Given the description of an element on the screen output the (x, y) to click on. 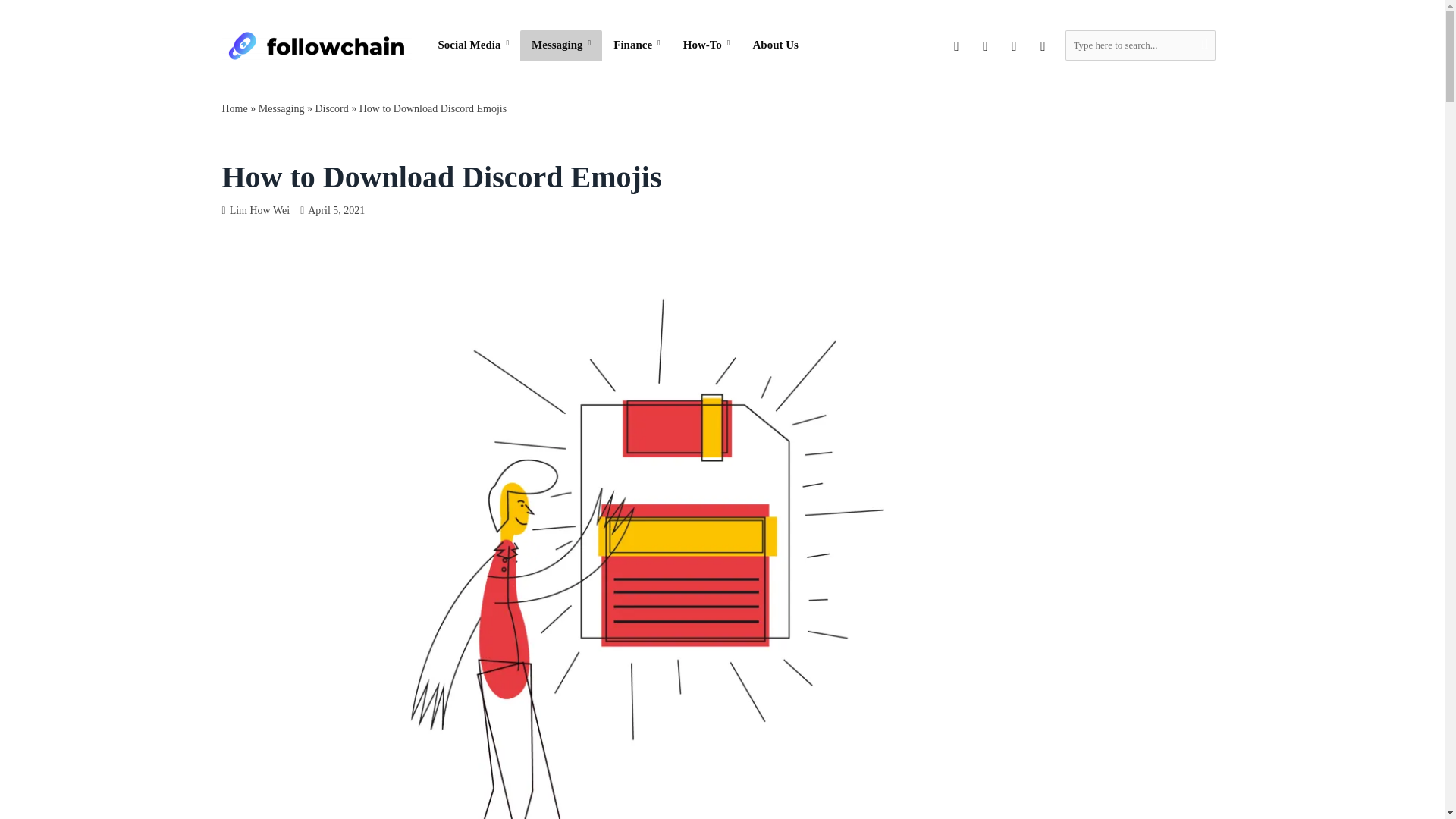
How-To (706, 45)
Social Media (472, 45)
Messaging (560, 45)
Finance (636, 45)
About Us (775, 45)
